Given the description of an element on the screen output the (x, y) to click on. 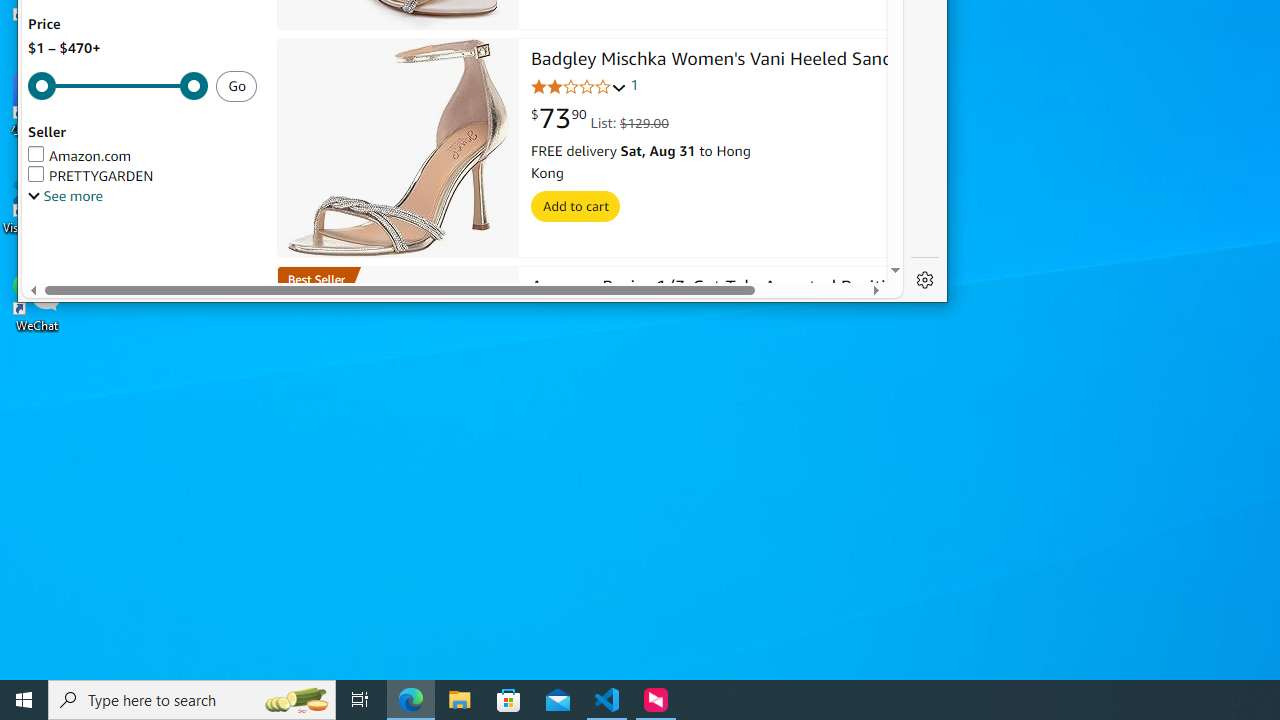
Start (24, 699)
Type here to search (191, 699)
Amazon.com (79, 156)
Task View (359, 699)
2.0 out of 5 stars (579, 87)
Badgley Mischka Women's Vani Heeled Sandal (719, 61)
$73.90 List: $129.00 (600, 118)
Microsoft Edge - 1 running window (411, 699)
Visual Studio Code - 1 running window (607, 699)
Microsoft Store (509, 699)
Maximum (118, 86)
